Given the description of an element on the screen output the (x, y) to click on. 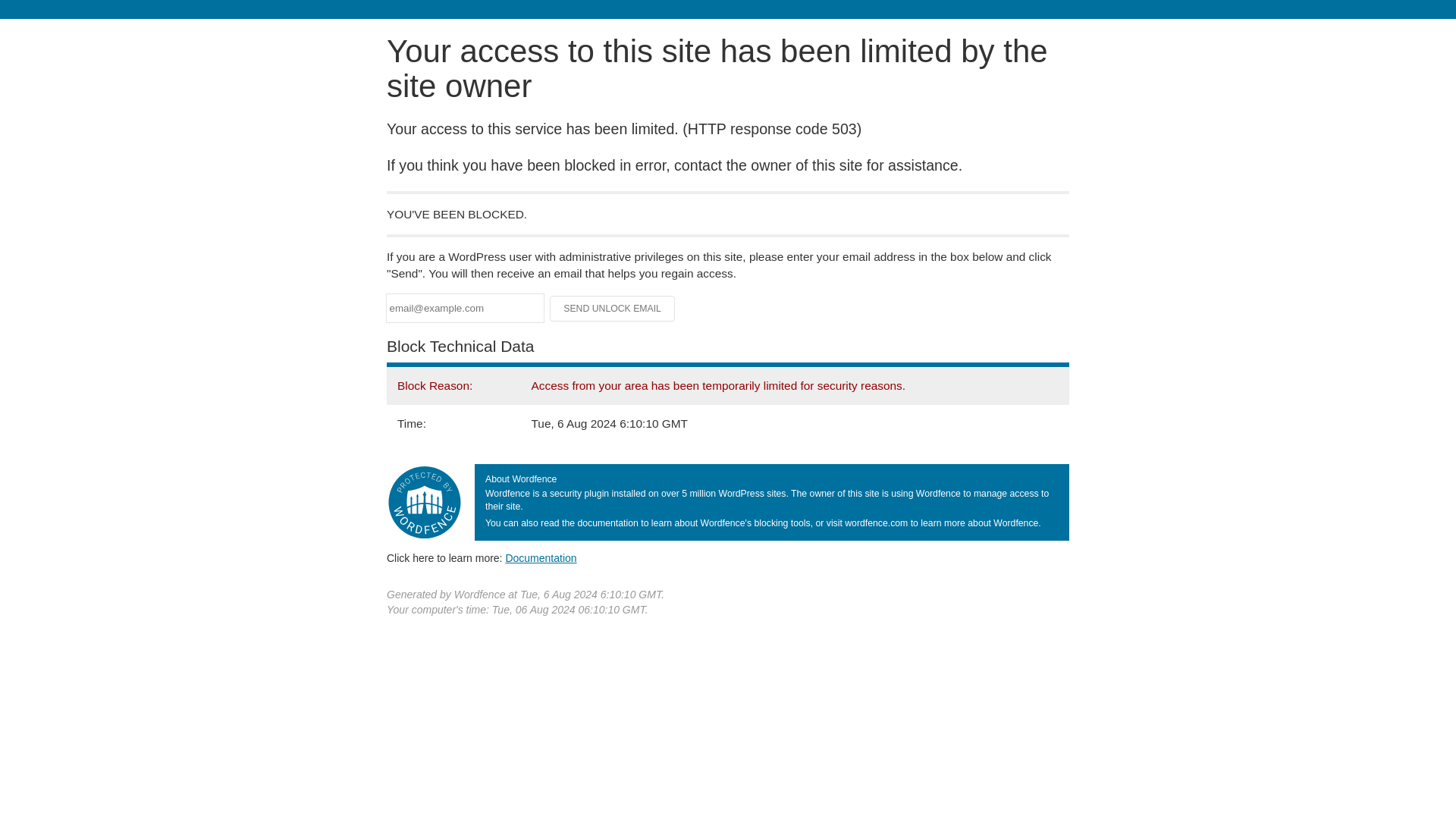
Send Unlock Email (612, 308)
Documentation (540, 558)
Send Unlock Email (612, 308)
